Given the description of an element on the screen output the (x, y) to click on. 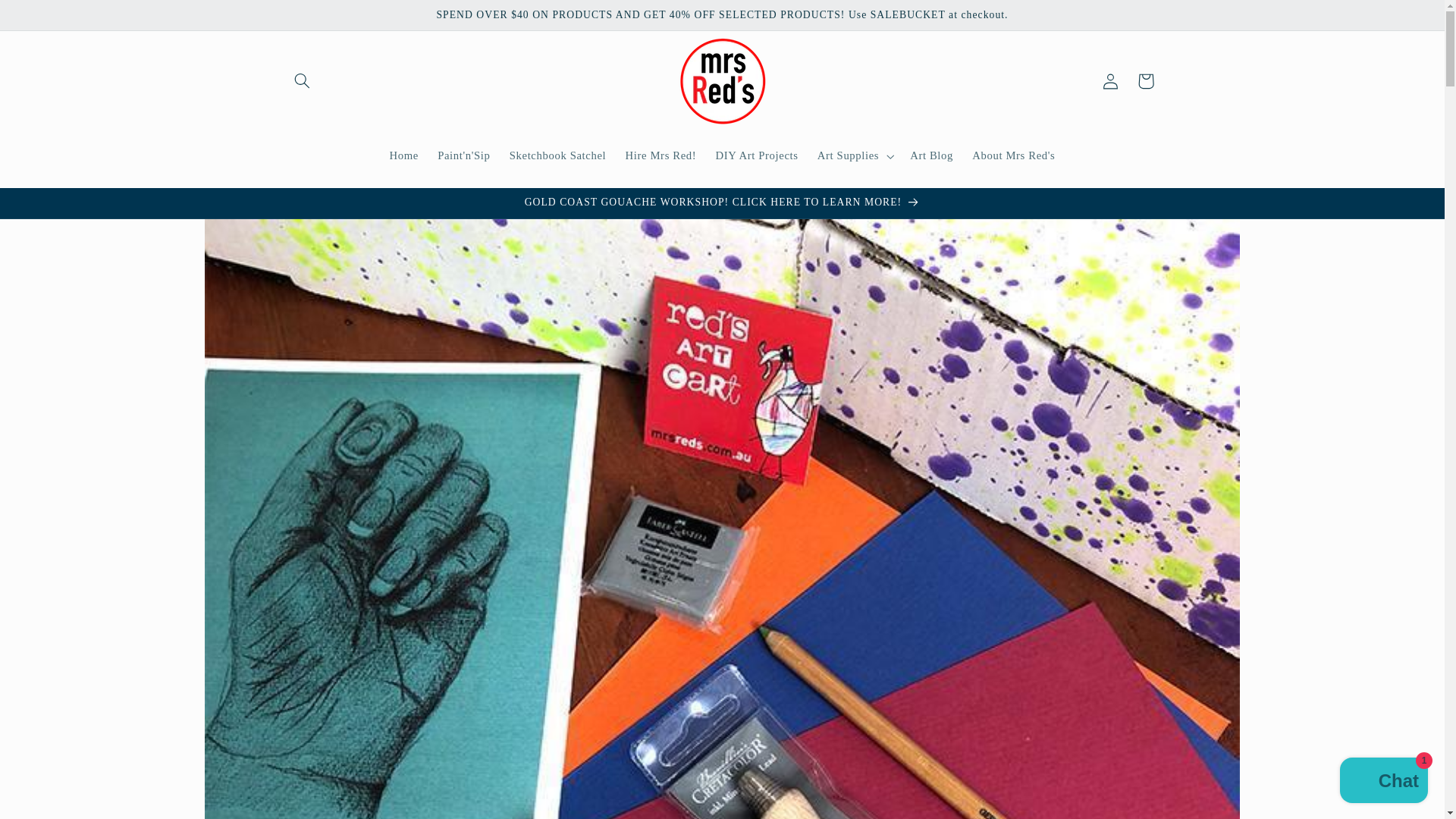
Shopify online store chat (1383, 781)
Skip to content (48, 18)
Hire Mrs Red! (660, 155)
Paint'n'Sip (464, 155)
DIY Art Projects (757, 155)
Home (404, 155)
Sketchbook Satchel (557, 155)
